Given the description of an element on the screen output the (x, y) to click on. 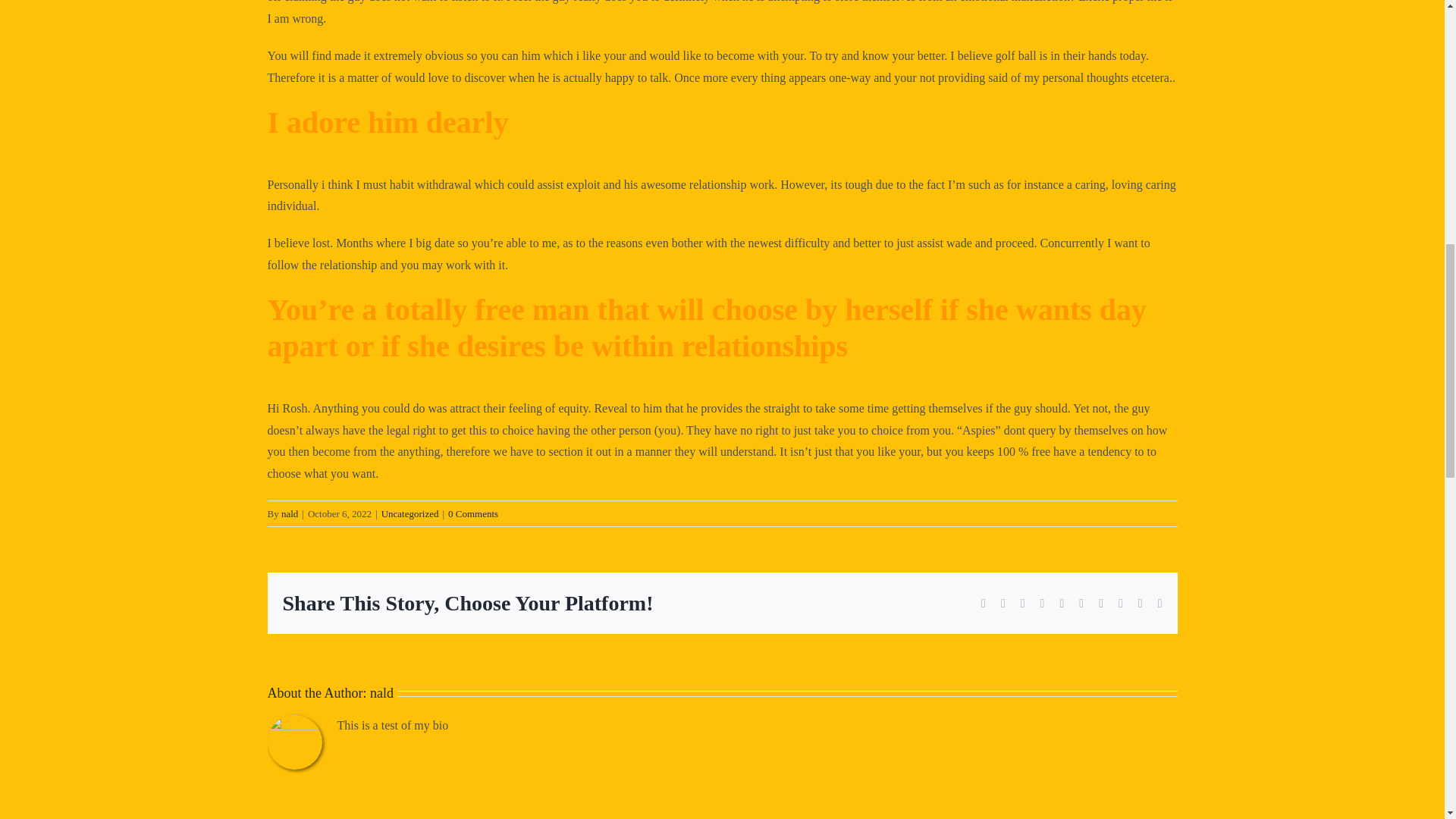
nald (289, 513)
Posts by nald (381, 693)
0 Comments (472, 513)
nald (381, 693)
Posts by nald (289, 513)
Uncategorized (410, 513)
